Given the description of an element on the screen output the (x, y) to click on. 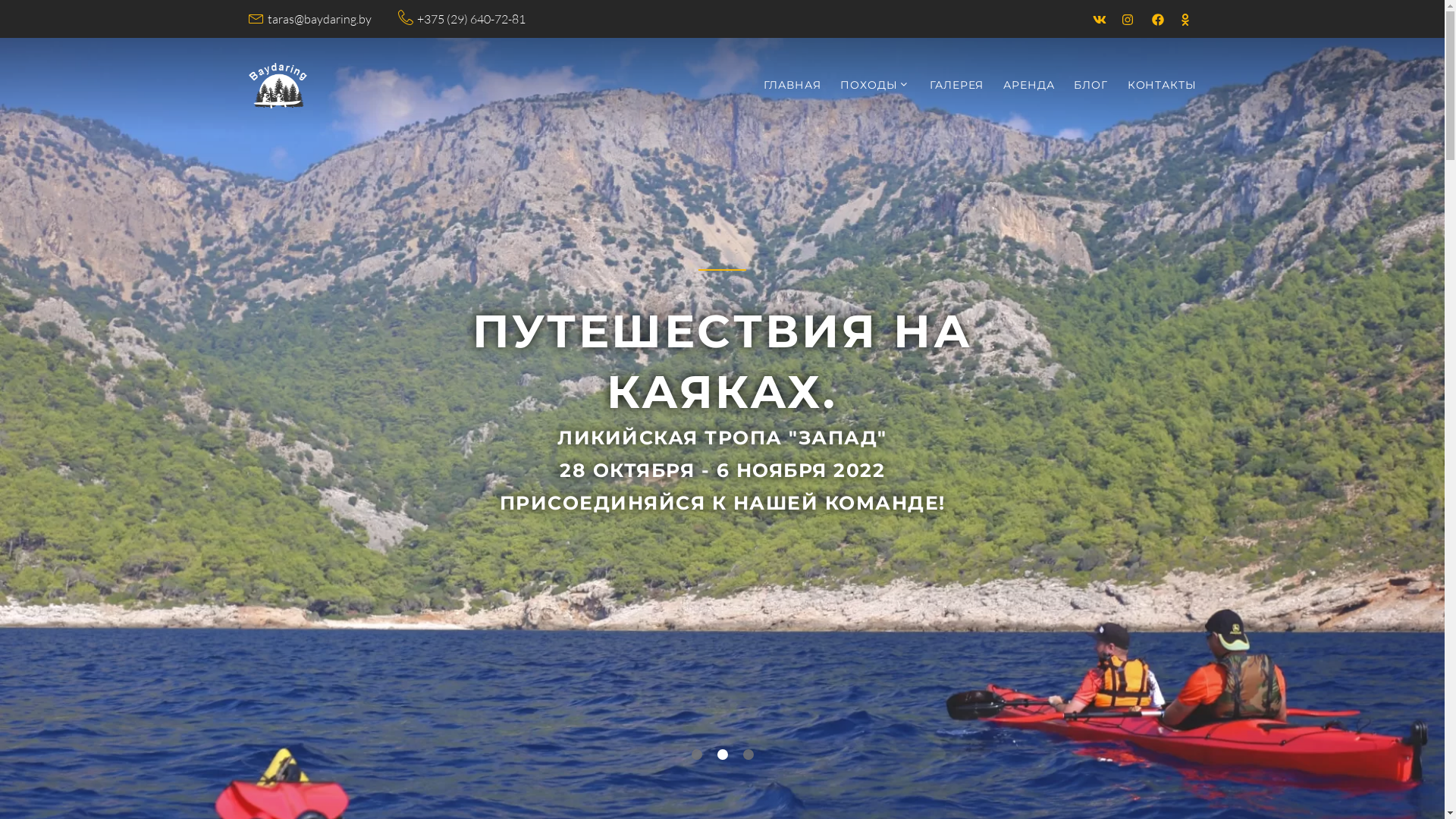
+375 (29) 640-72-81 Element type: text (471, 19)
taras@baydaring.by Element type: text (318, 19)
